Given the description of an element on the screen output the (x, y) to click on. 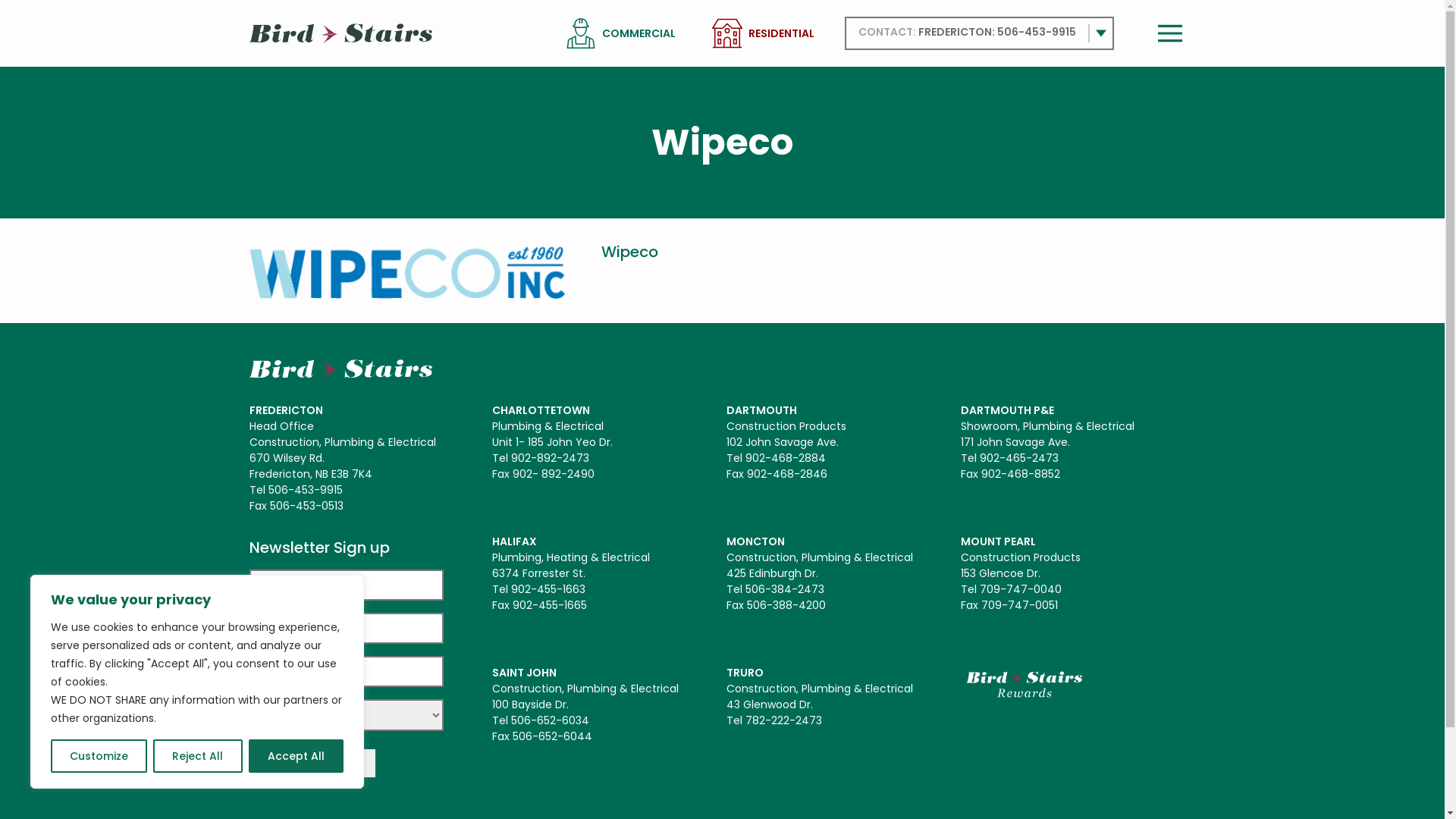
902-465-2473 Element type: text (1018, 457)
SAINT JOHN Element type: text (523, 672)
506-652-6034 Element type: text (550, 720)
902-892-2473 Element type: text (550, 457)
HALIFAX Element type: text (513, 541)
MONCTON Element type: text (755, 541)
782-222-2473 Element type: text (783, 720)
902-468-2884 Element type: text (785, 457)
506-453-9915 Element type: text (305, 489)
Customize Element type: text (98, 755)
Accept All Element type: text (295, 755)
902-455-1663 Element type: text (548, 588)
506-453-9915 Element type: text (1035, 31)
506-384-2473 Element type: text (784, 588)
CHARLOTTETOWN Element type: text (540, 409)
TRURO Element type: text (744, 672)
MOUNT PEARL Element type: text (997, 541)
709-747-0040 Element type: text (1020, 588)
Reject All Element type: text (197, 755)
COMMERCIAL Element type: text (638, 33)
FREDERICTON Element type: text (285, 409)
Subscribe Element type: text (311, 763)
DARTMOUTH Element type: text (761, 409)
DARTMOUTH P&E Element type: text (1007, 409)
RESIDENTIAL Element type: text (780, 33)
